Given the description of an element on the screen output the (x, y) to click on. 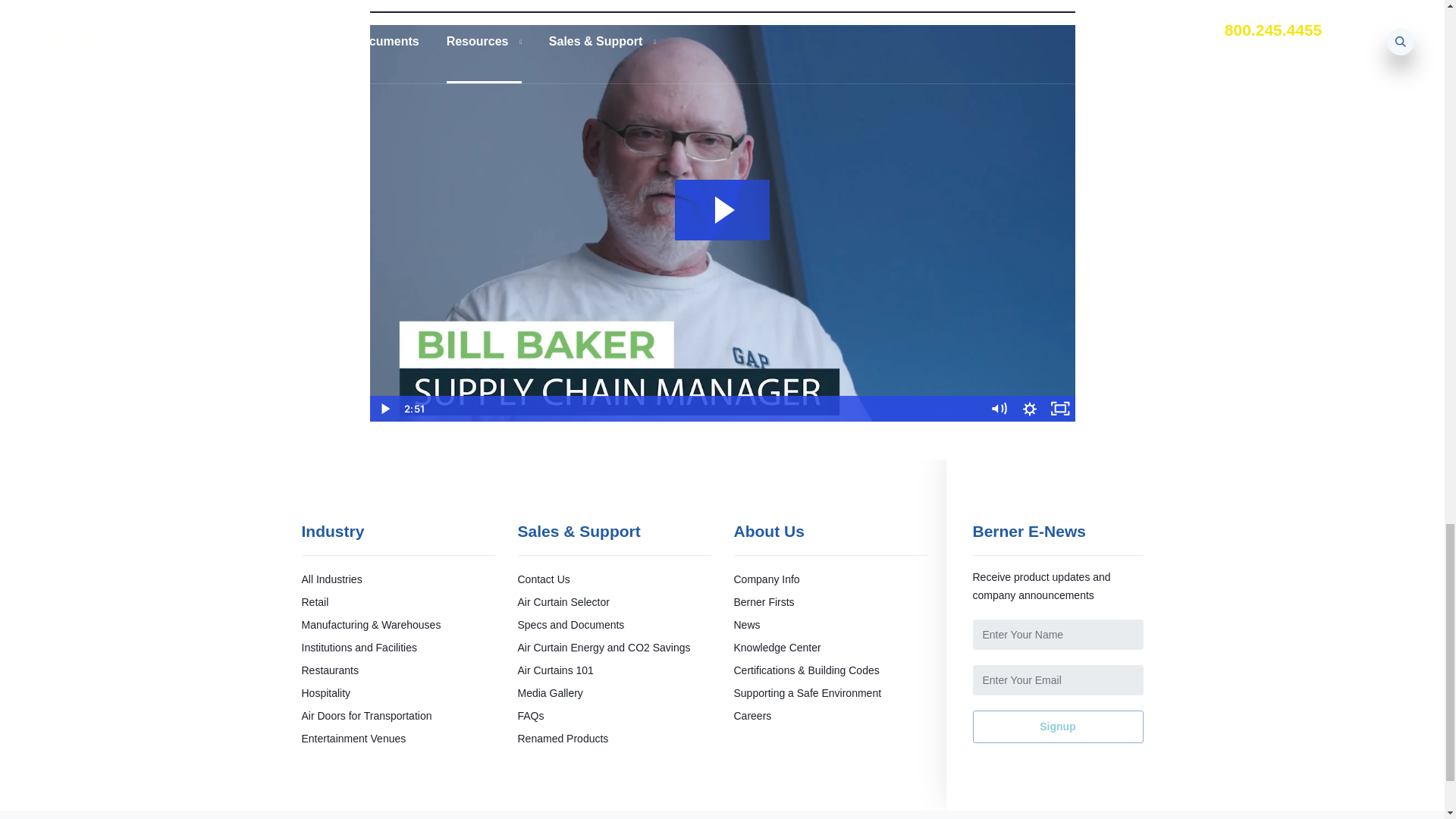
Signup (1057, 726)
Show settings menu (1029, 408)
